Given the description of an element on the screen output the (x, y) to click on. 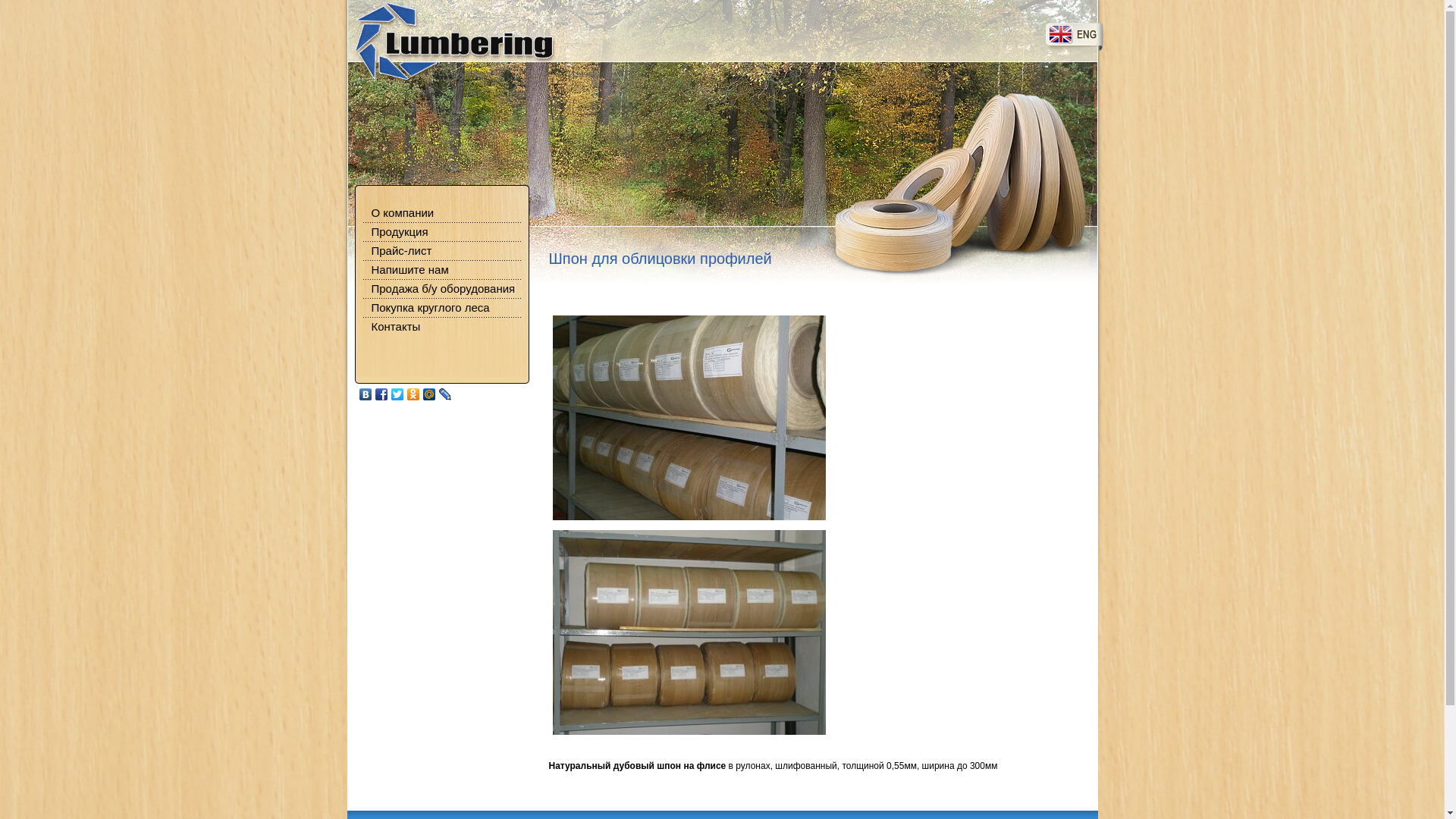
Facebook Element type: hover (381, 394)
LiveJournal Element type: hover (444, 394)
Twitter Element type: hover (397, 394)
